Given the description of an element on the screen output the (x, y) to click on. 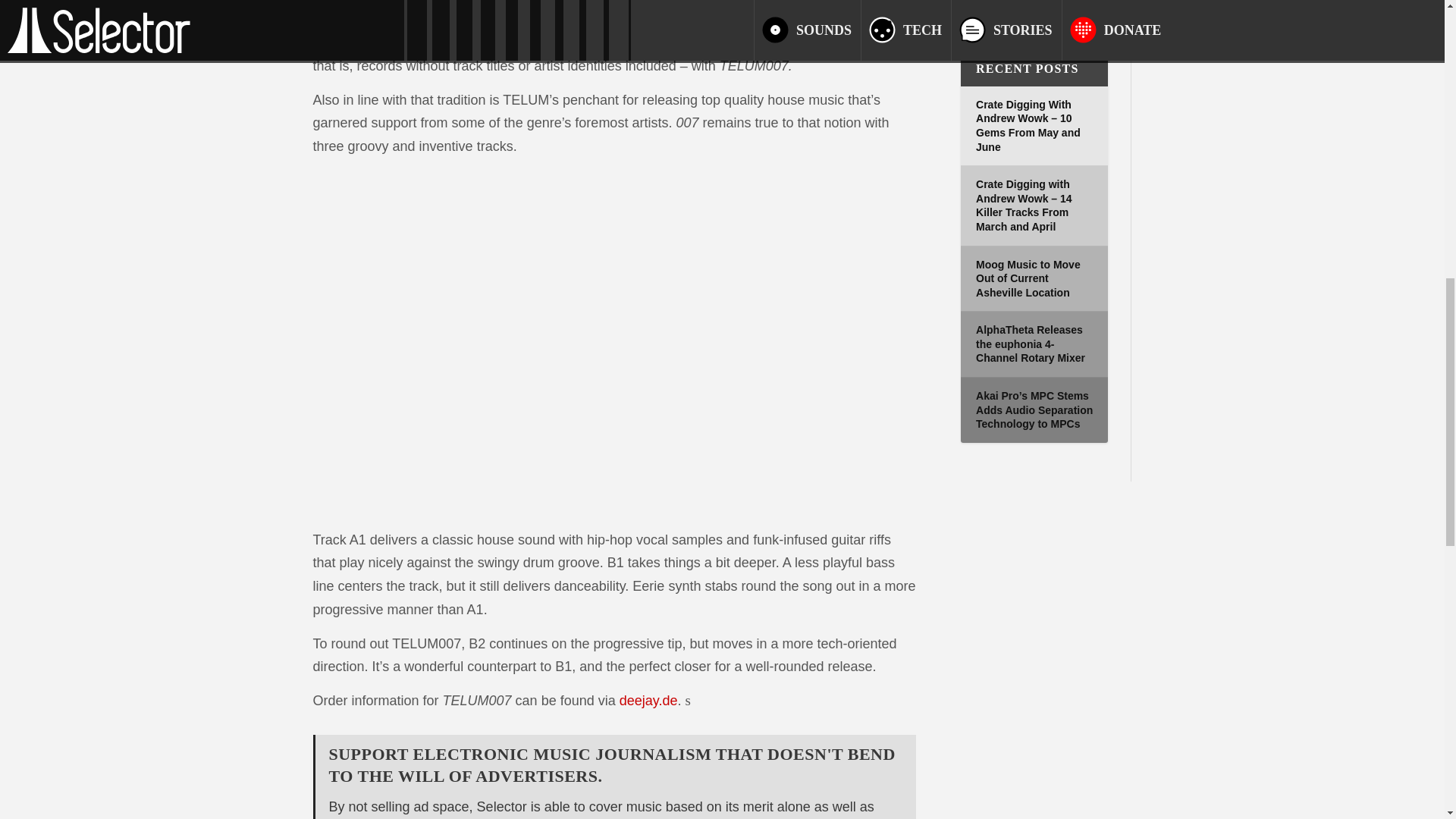
Learn how it works (454, 7)
TELUM (430, 42)
Moog Music to Move Out of Current Asheville Location (1027, 278)
deejay.de (649, 700)
AlphaTheta Releases the euphonia 4-Channel Rotary Mixer (1029, 343)
